Given the description of an element on the screen output the (x, y) to click on. 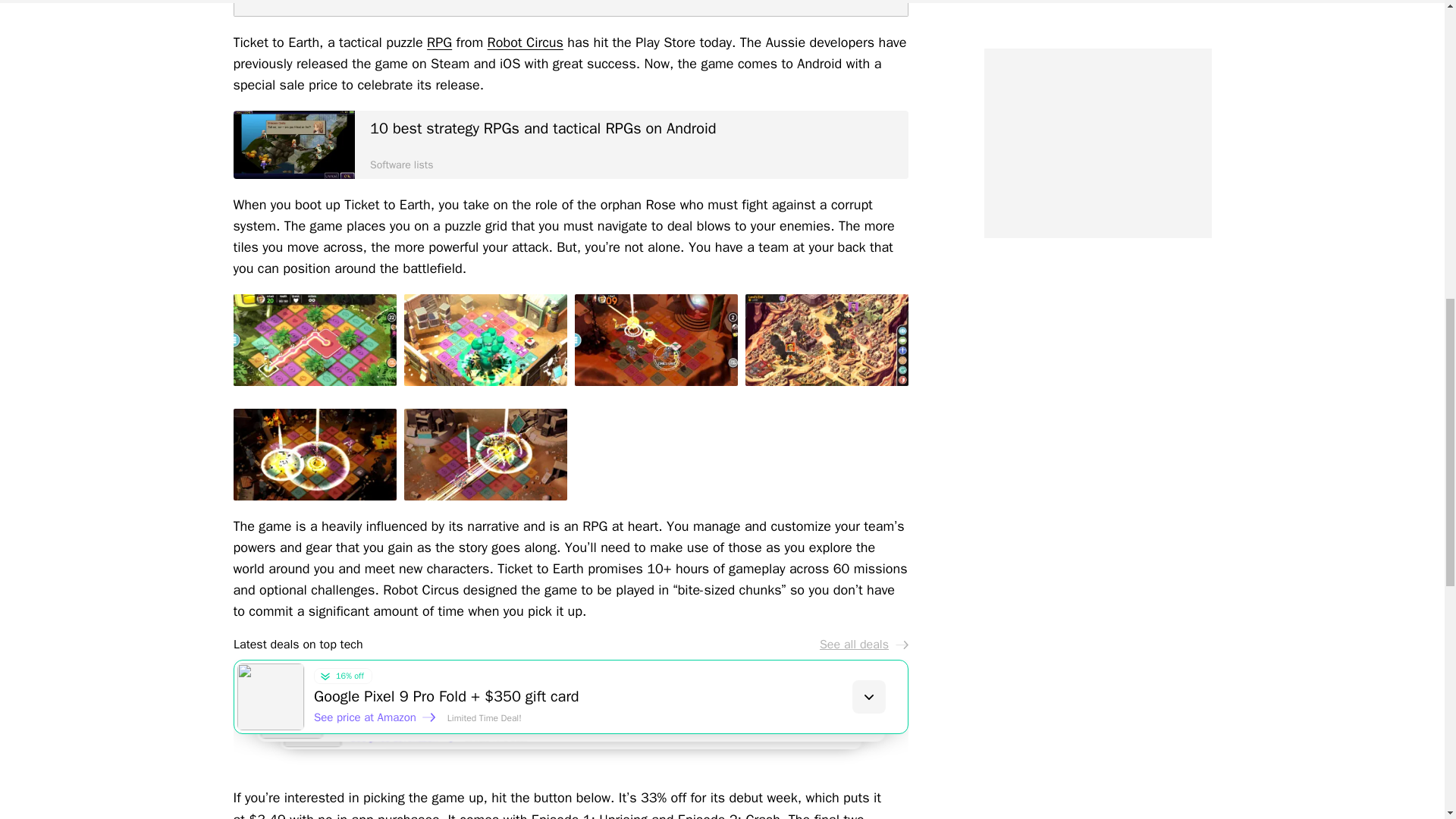
Ticket to Earth - Laser attack (656, 339)
See price at Amazon (374, 717)
Ticket to Earth - Garden path (314, 339)
Ticket to Earth - Gas grenade (484, 339)
Ticket to Earth - Super attack (314, 454)
See price at Amazon (409, 743)
Robot Circus (525, 42)
See all deals (862, 644)
See price at Amazon (391, 729)
Final Fantasy Tactics WotL screenshot (293, 144)
